Given the description of an element on the screen output the (x, y) to click on. 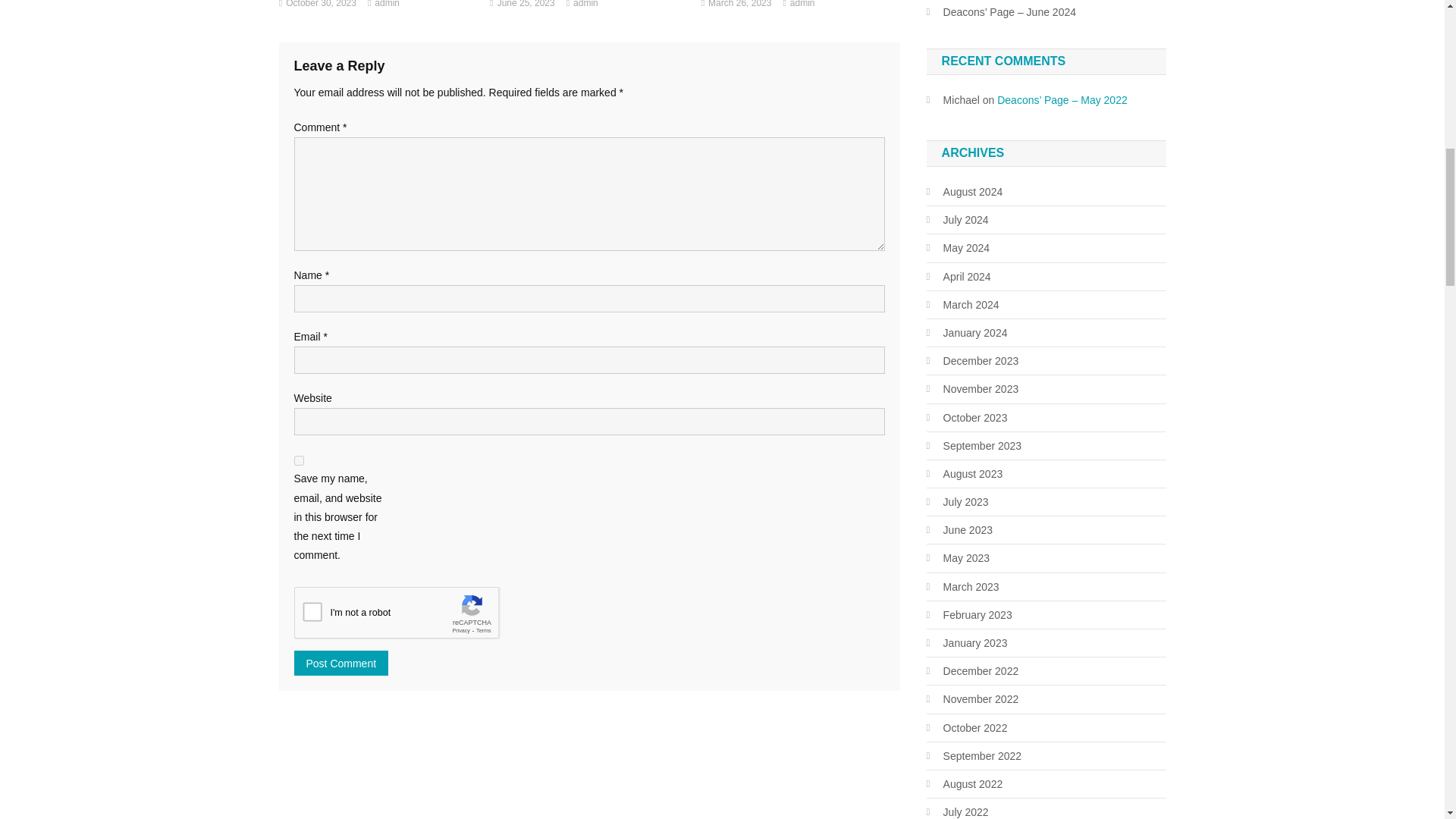
reCAPTCHA (409, 616)
yes (299, 460)
Post Comment (341, 662)
June 25, 2023 (525, 6)
October 30, 2023 (320, 6)
admin (802, 6)
March 26, 2023 (739, 6)
admin (386, 6)
admin (585, 6)
Post Comment (341, 662)
